Given the description of an element on the screen output the (x, y) to click on. 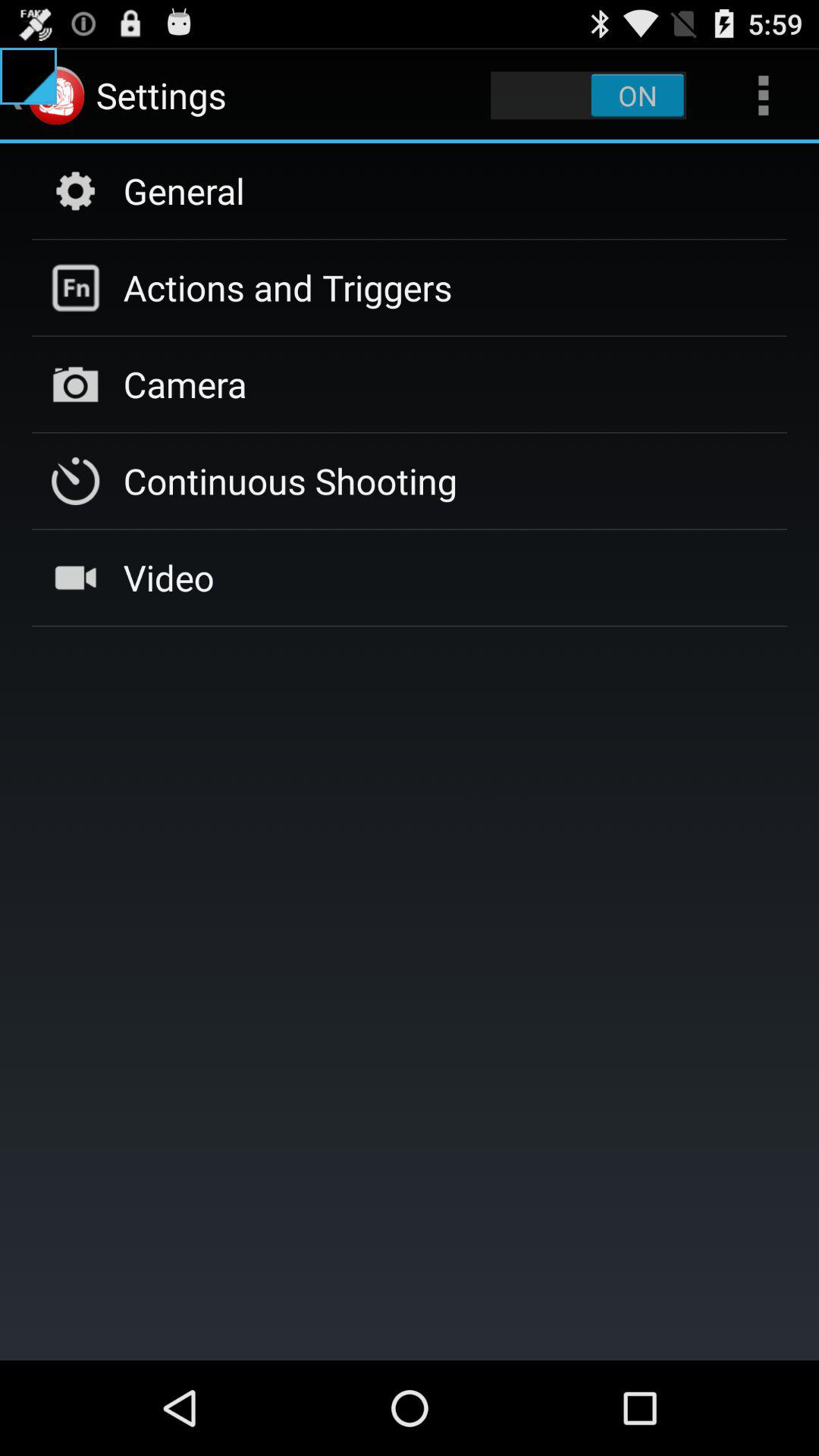
turn settings on/off (588, 95)
